Given the description of an element on the screen output the (x, y) to click on. 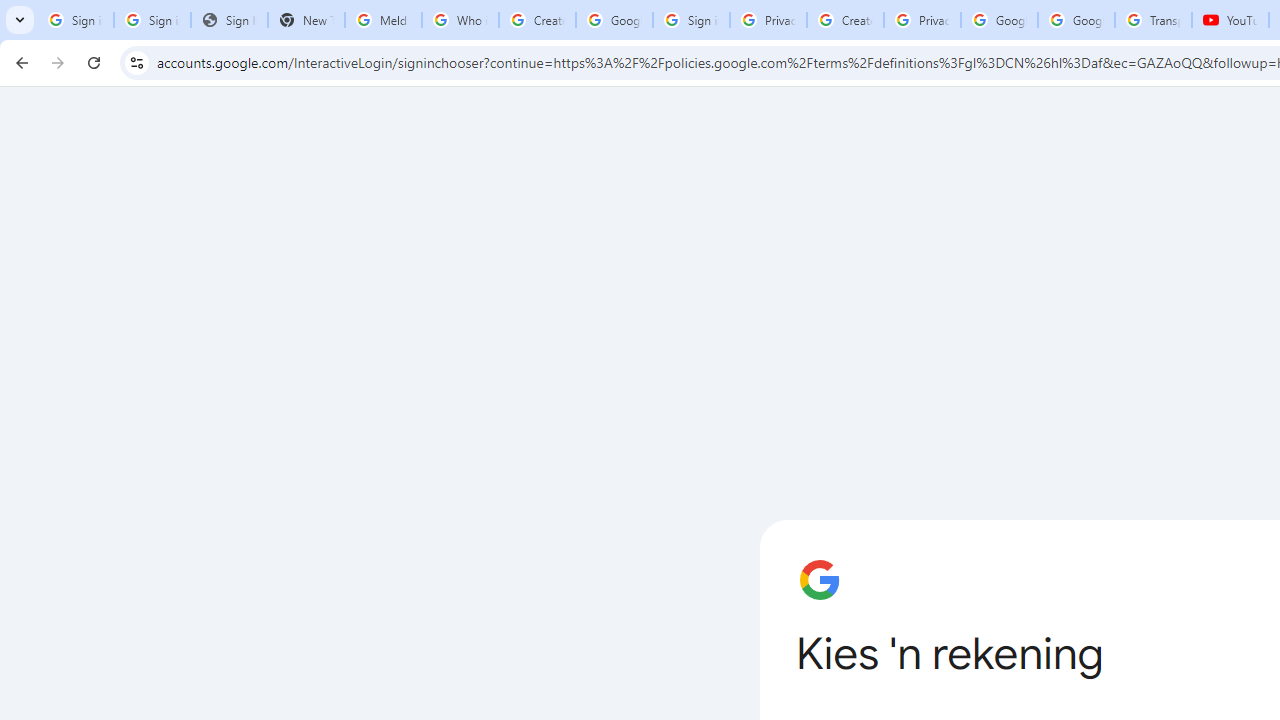
Google Account (1076, 20)
Create your Google Account (537, 20)
Sign in - Google Accounts (151, 20)
Sign In - USA TODAY (228, 20)
